Given the description of an element on the screen output the (x, y) to click on. 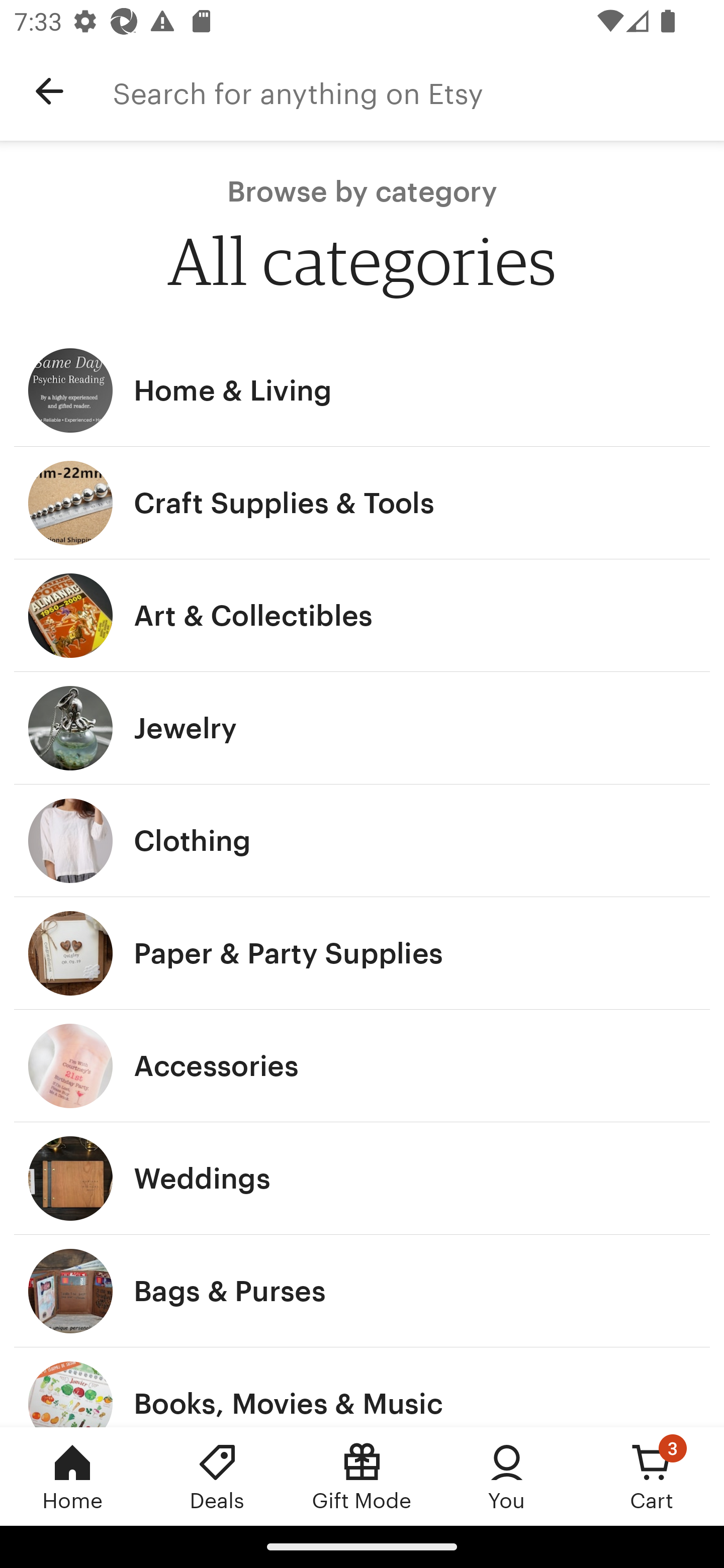
Navigate up (49, 91)
Search for anything on Etsy (418, 91)
Home & Living (361, 389)
Craft Supplies & Tools (361, 502)
Art & Collectibles (361, 615)
Jewelry (361, 728)
Clothing (361, 840)
Paper & Party Supplies (361, 952)
Accessories (361, 1065)
Weddings (361, 1178)
Bags & Purses (361, 1290)
Books, Movies & Music (361, 1386)
Deals (216, 1475)
Gift Mode (361, 1475)
You (506, 1475)
Cart, 3 new notifications Cart (651, 1475)
